Given the description of an element on the screen output the (x, y) to click on. 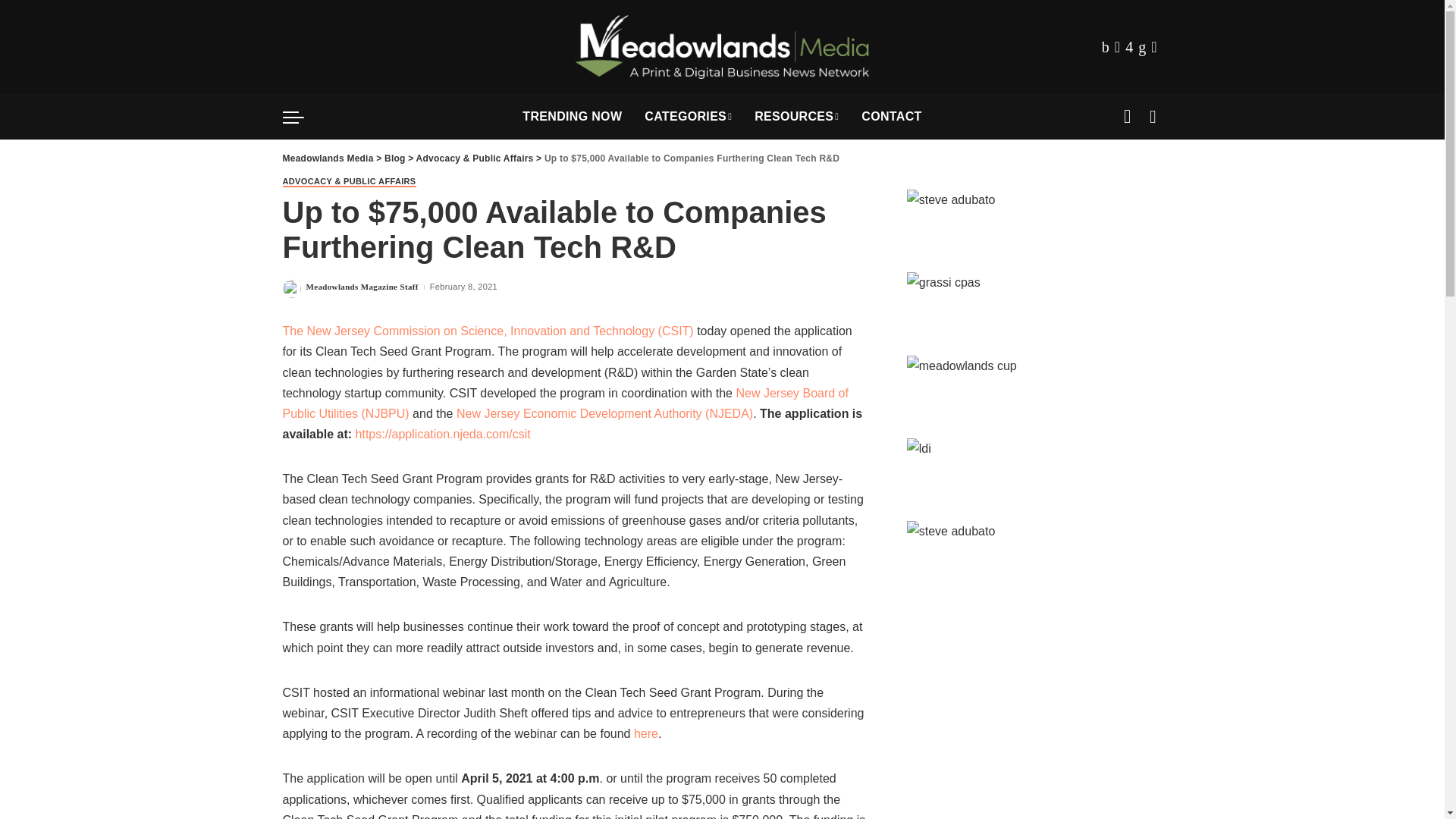
Meadowlands Media (722, 46)
